Given the description of an element on the screen output the (x, y) to click on. 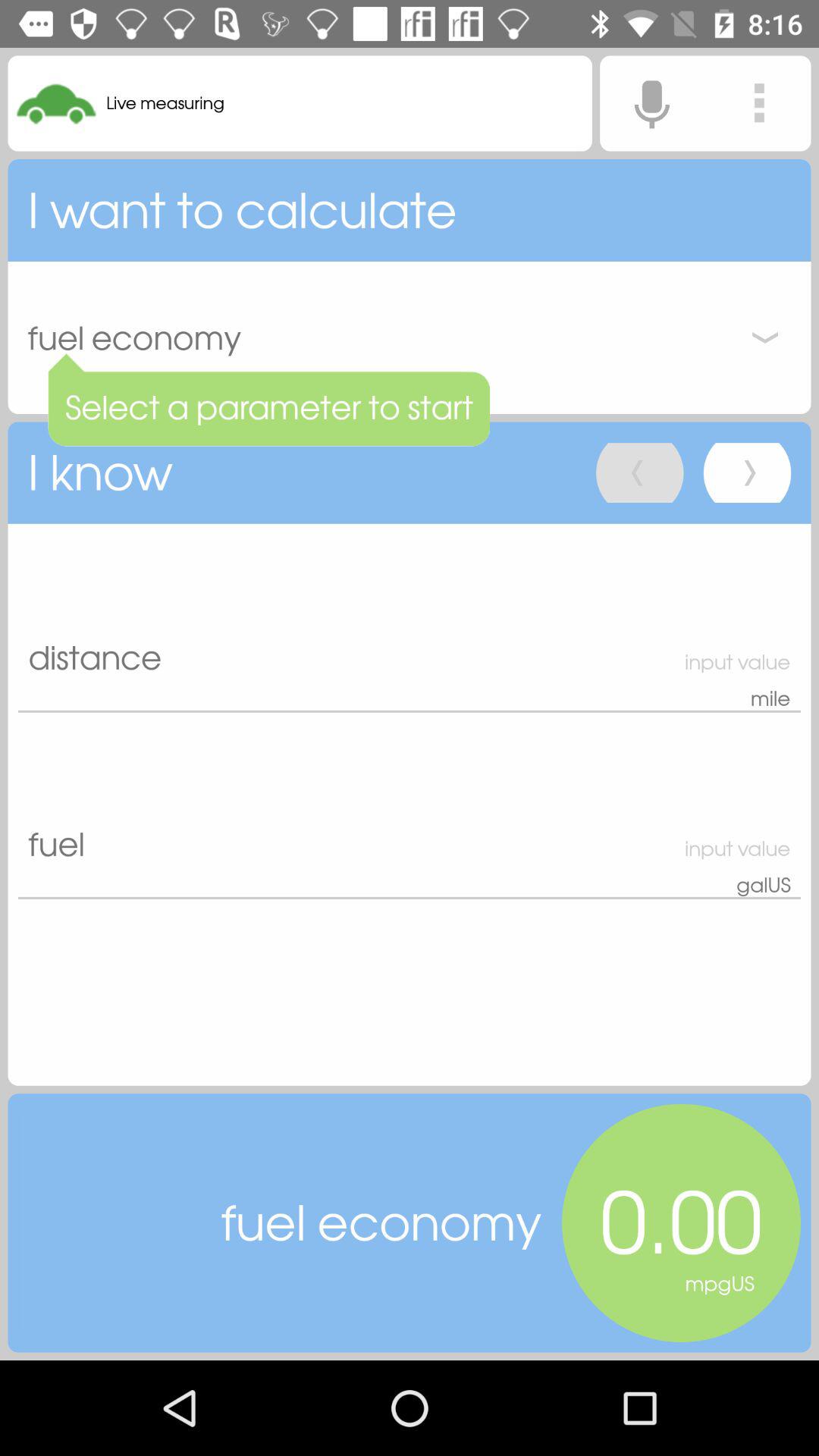
overflow action button (759, 103)
